Given the description of an element on the screen output the (x, y) to click on. 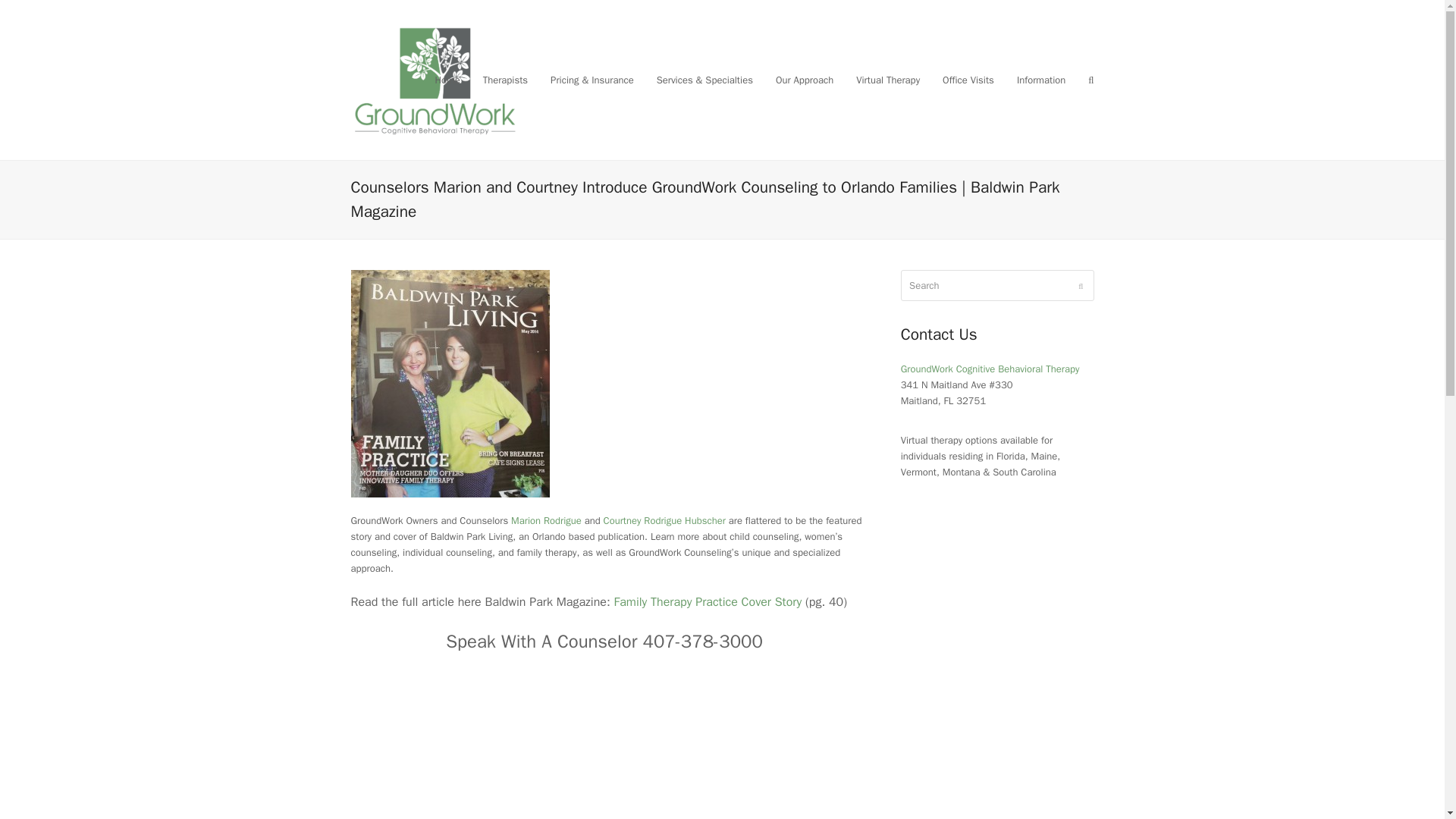
Baldwin Park Counselor Story (708, 601)
Therapists (504, 79)
Marion Plessner Rodrigue (545, 520)
Our Approach (804, 79)
Home (446, 79)
